Given the description of an element on the screen output the (x, y) to click on. 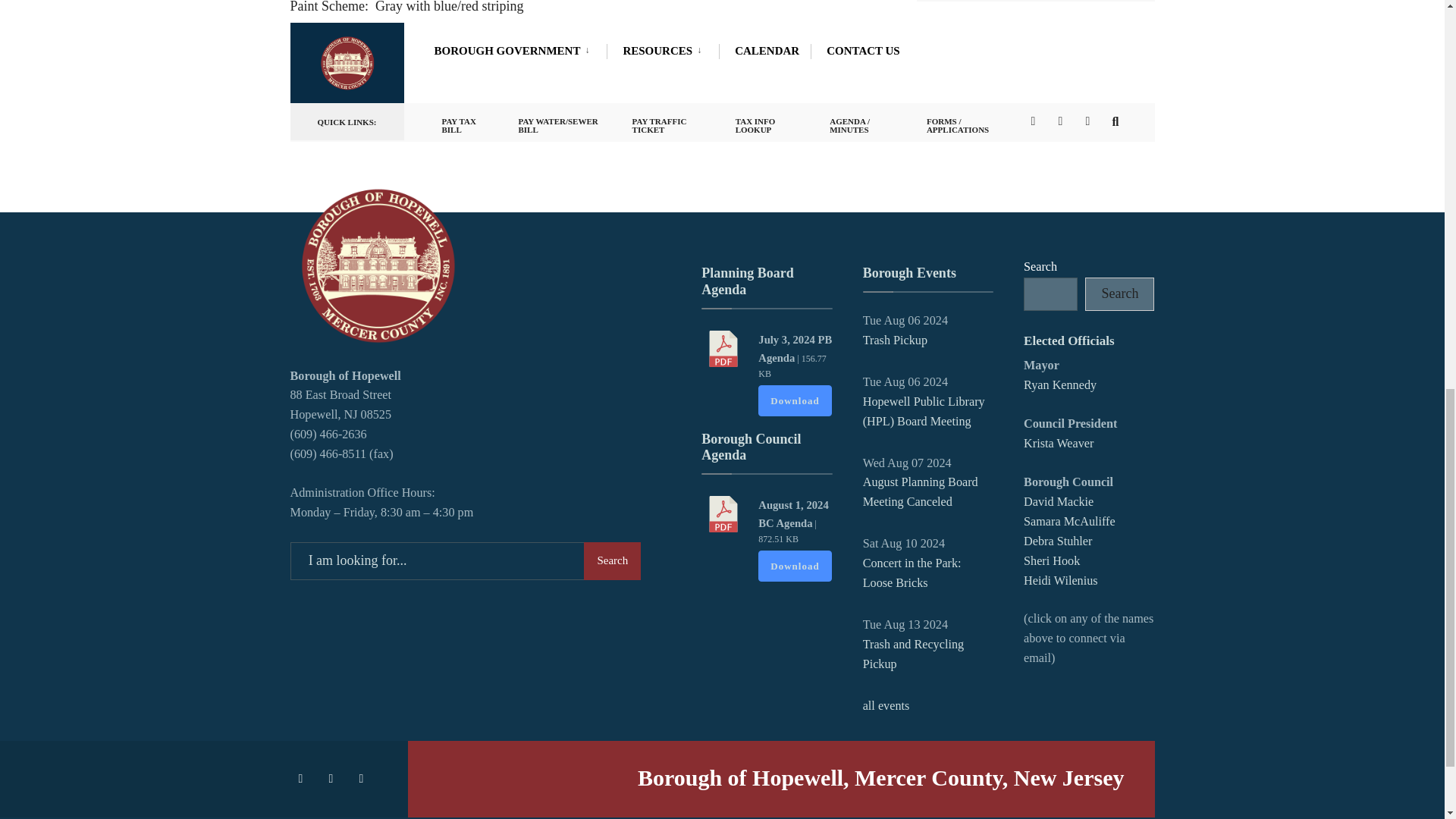
I am looking for... (464, 560)
all events (886, 705)
